Given the description of an element on the screen output the (x, y) to click on. 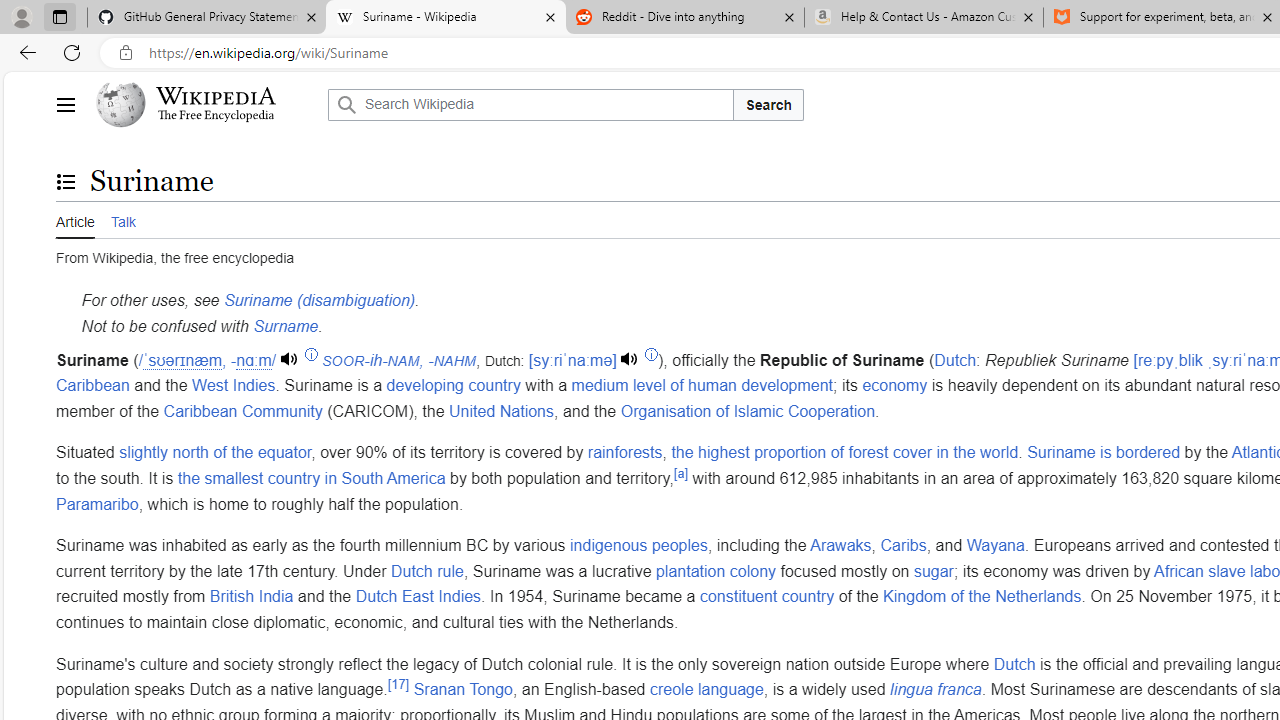
British India (251, 597)
lingua franca (935, 690)
economy (894, 386)
Dutch rule (426, 571)
The Free Encyclopedia (216, 116)
Surname (285, 325)
developing country (453, 386)
Kingdom of the Netherlands (982, 597)
Article (75, 219)
sugar (932, 571)
Wayana (995, 546)
